Given the description of an element on the screen output the (x, y) to click on. 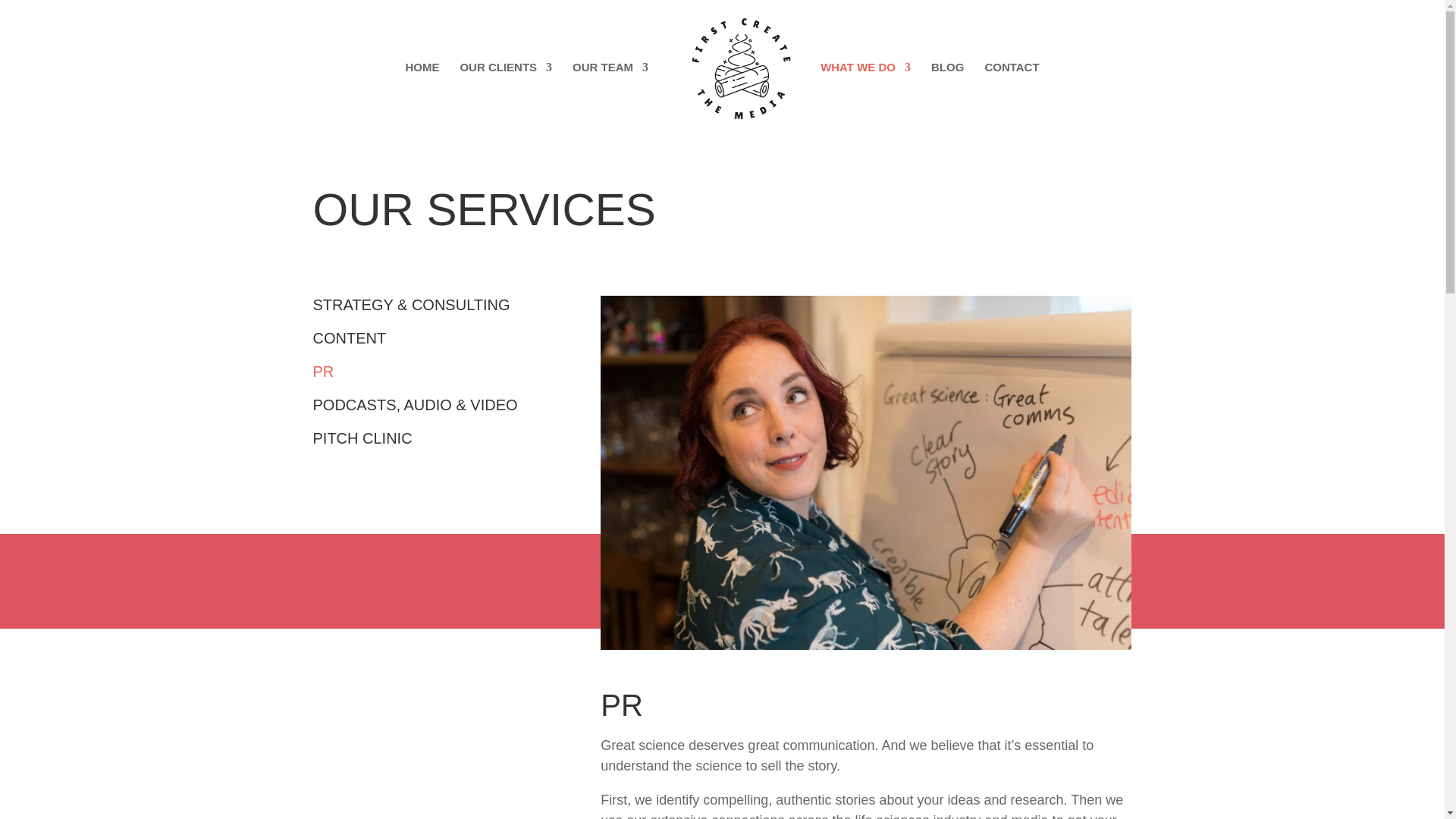
OUR TEAM (609, 95)
PR (323, 371)
WHAT WE DO (866, 95)
OUR CLIENTS (505, 95)
CONTENT (349, 338)
